Given the description of an element on the screen output the (x, y) to click on. 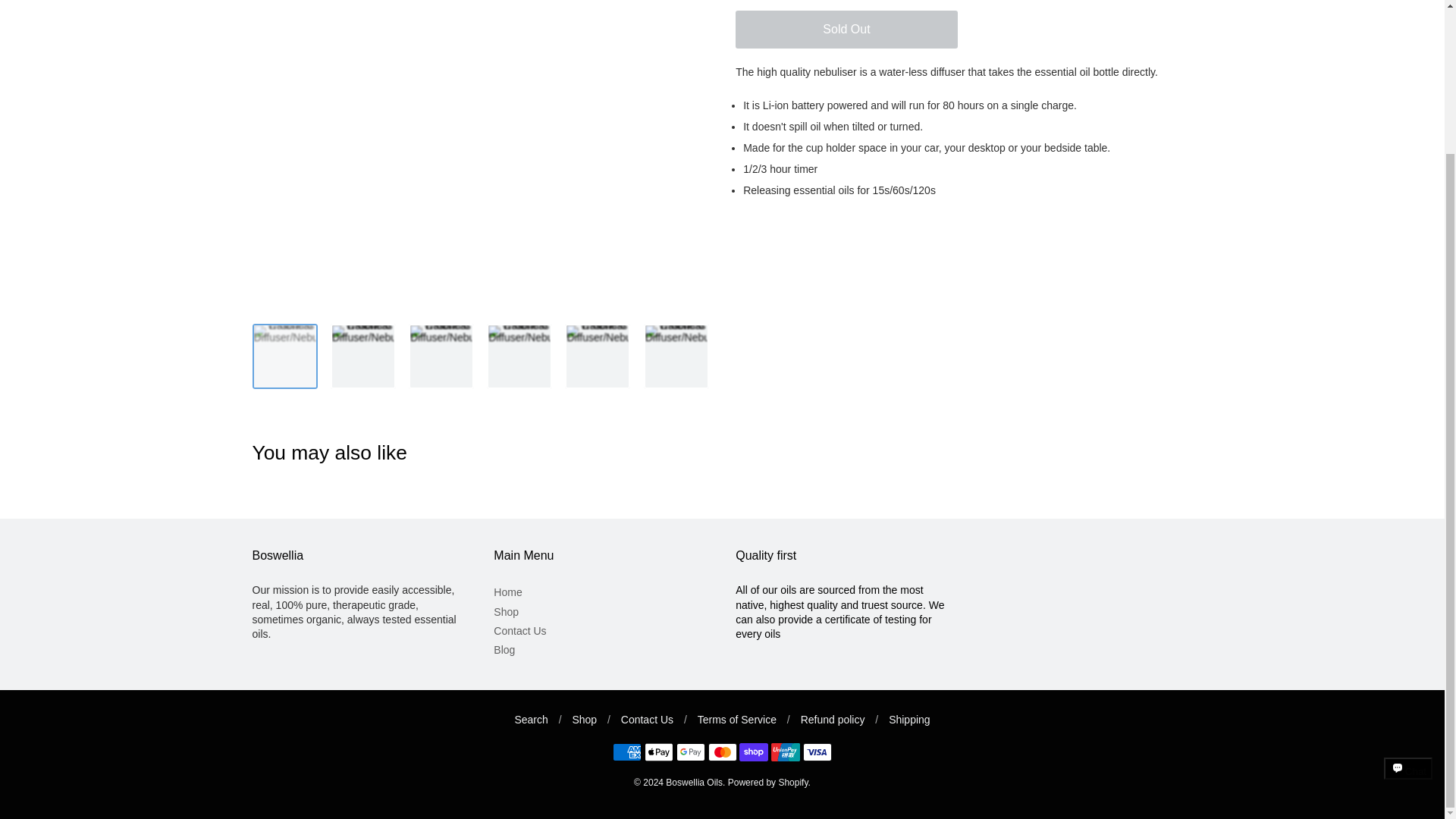
Google Pay (690, 751)
Visa (817, 751)
Shopify online store chat (1408, 603)
Shop Pay (753, 751)
Union Pay (785, 751)
Apple Pay (658, 751)
American Express (627, 751)
Mastercard (721, 751)
